Given the description of an element on the screen output the (x, y) to click on. 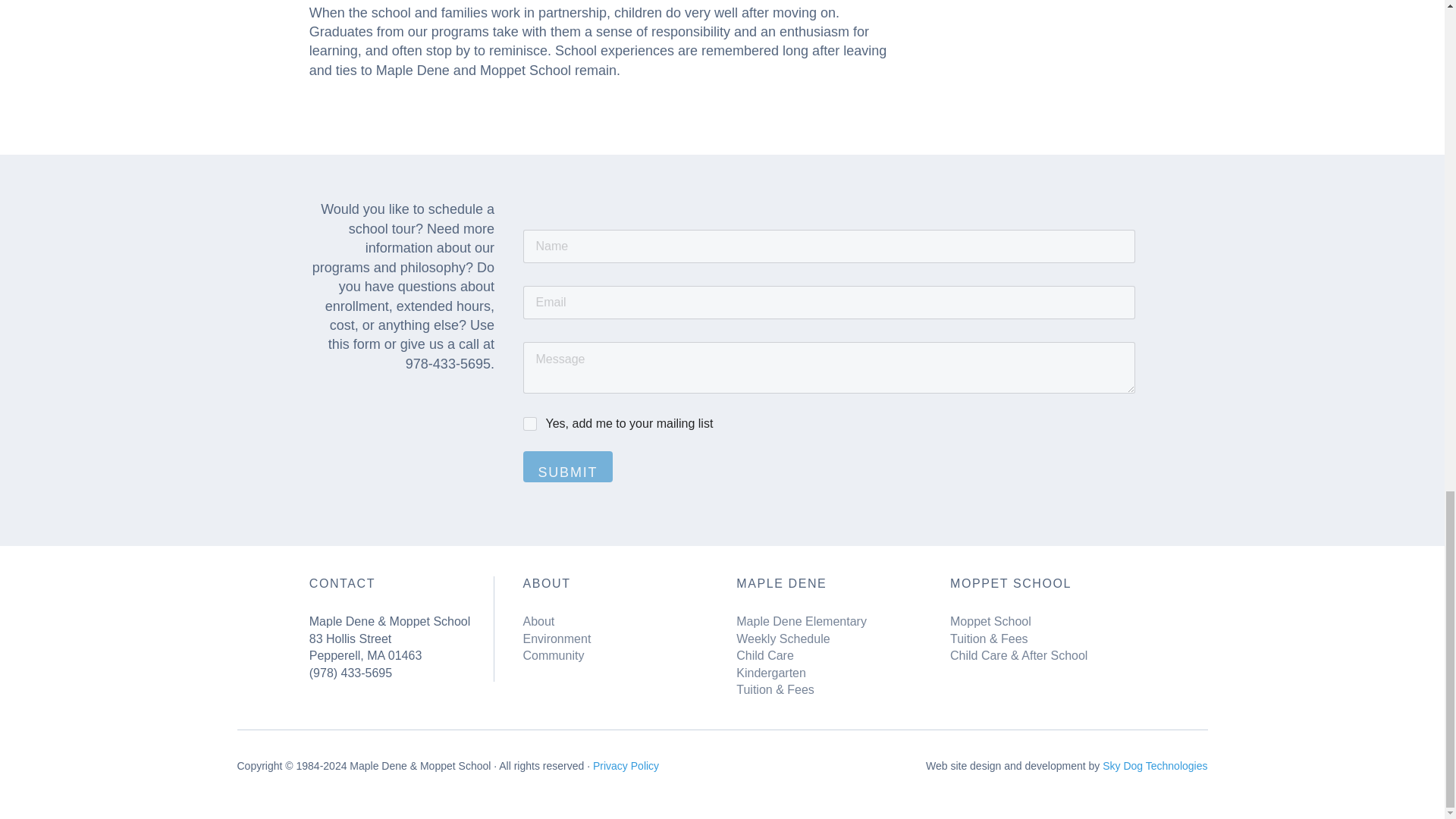
Moppet School (990, 621)
About (538, 621)
Maple Dene Elementary (801, 621)
Child Care (764, 655)
Privacy Policy (625, 766)
Weekly Schedule (782, 638)
Environment (556, 638)
Kindergarten (771, 672)
Yes, add me to your mailing list (530, 424)
SUBMIT (567, 466)
Community (553, 655)
Sky Dog Technologies (1154, 766)
